Given the description of an element on the screen output the (x, y) to click on. 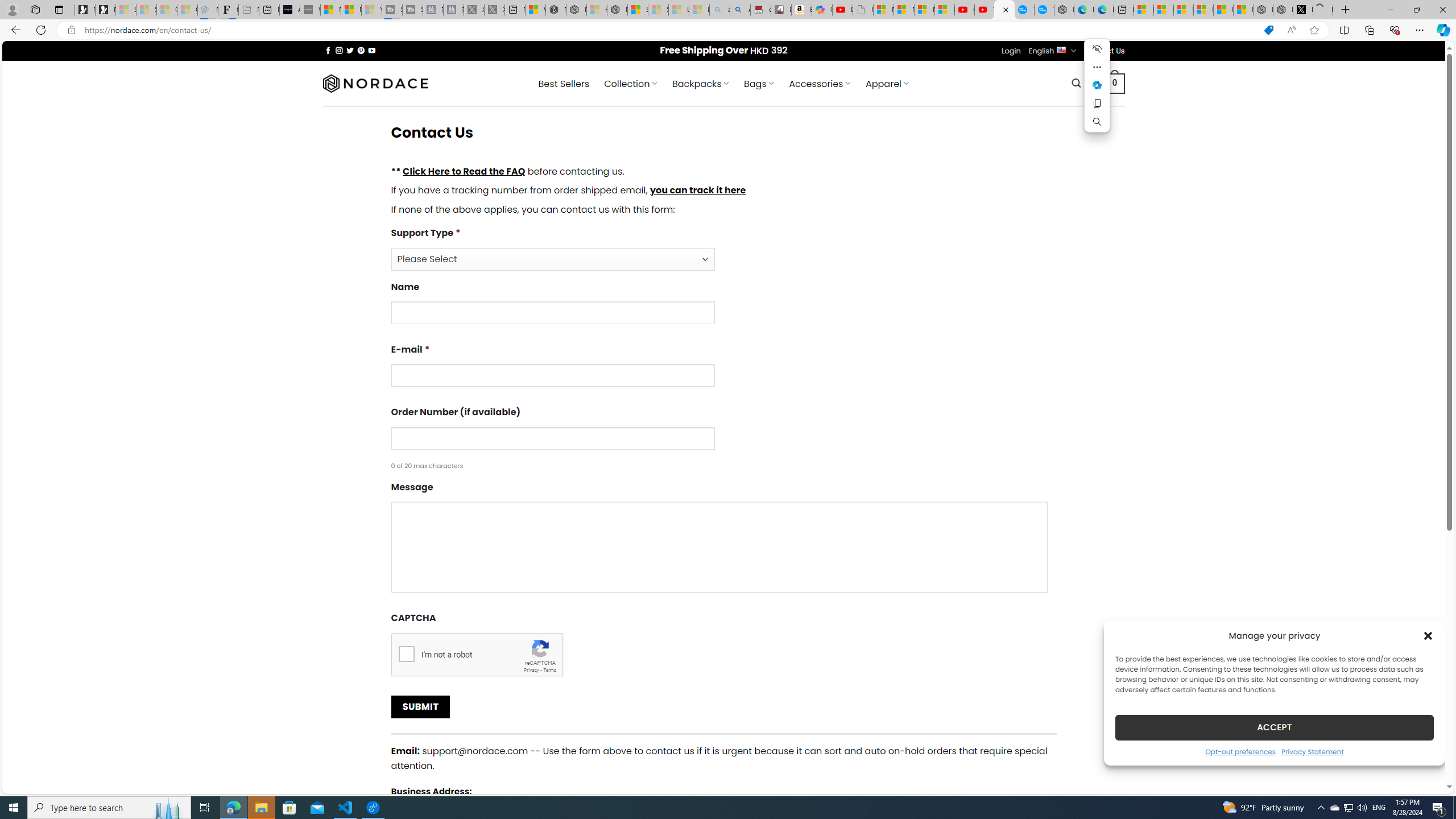
Click Here to Read the FAQ (463, 170)
What's the best AI voice generator? - voice.ai - Sleeping (309, 9)
Support Type* (552, 259)
  Best Sellers (563, 83)
